Given the description of an element on the screen output the (x, y) to click on. 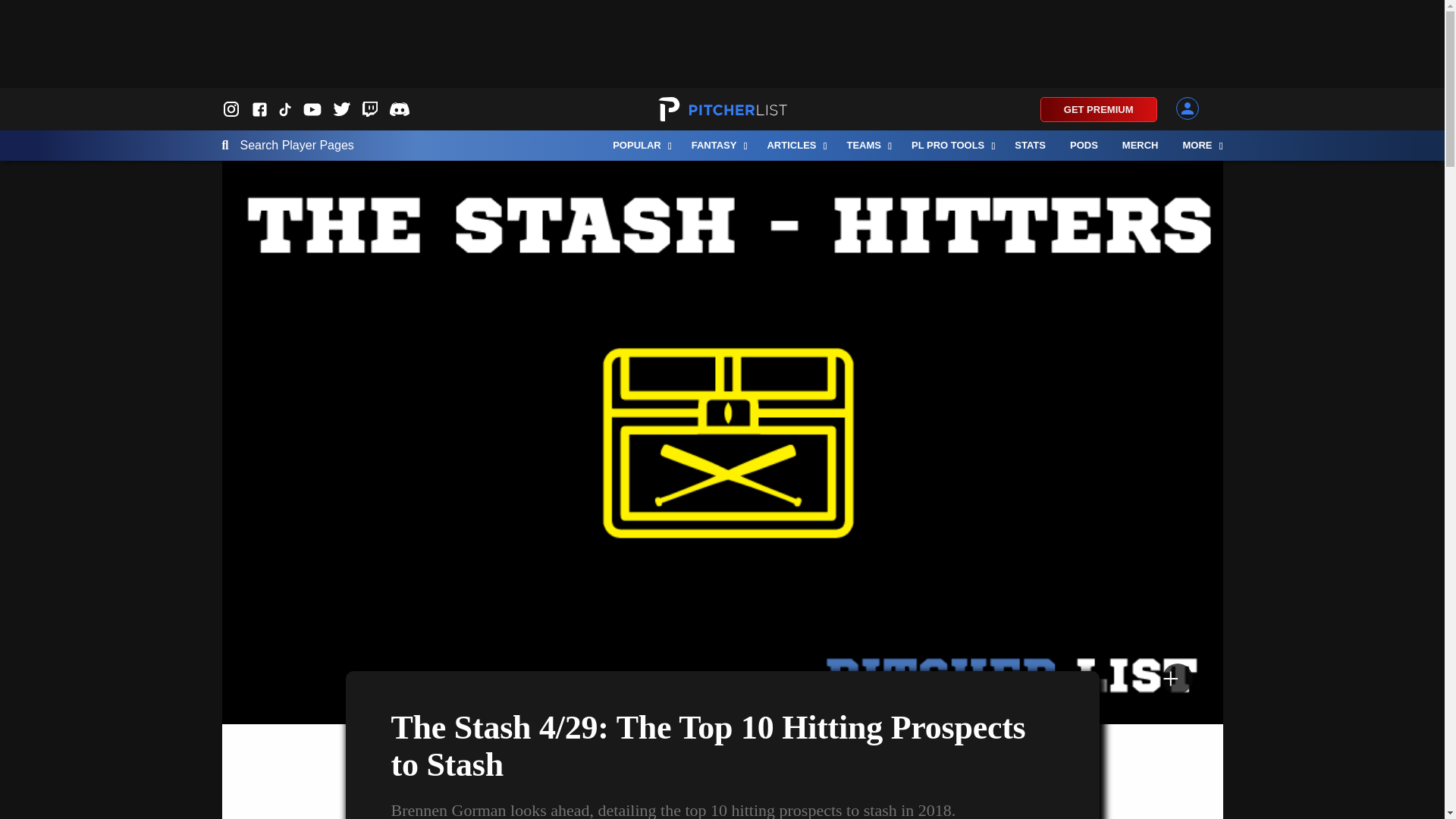
FANTASY (717, 145)
GET PREMIUM (1099, 109)
